Given the description of an element on the screen output the (x, y) to click on. 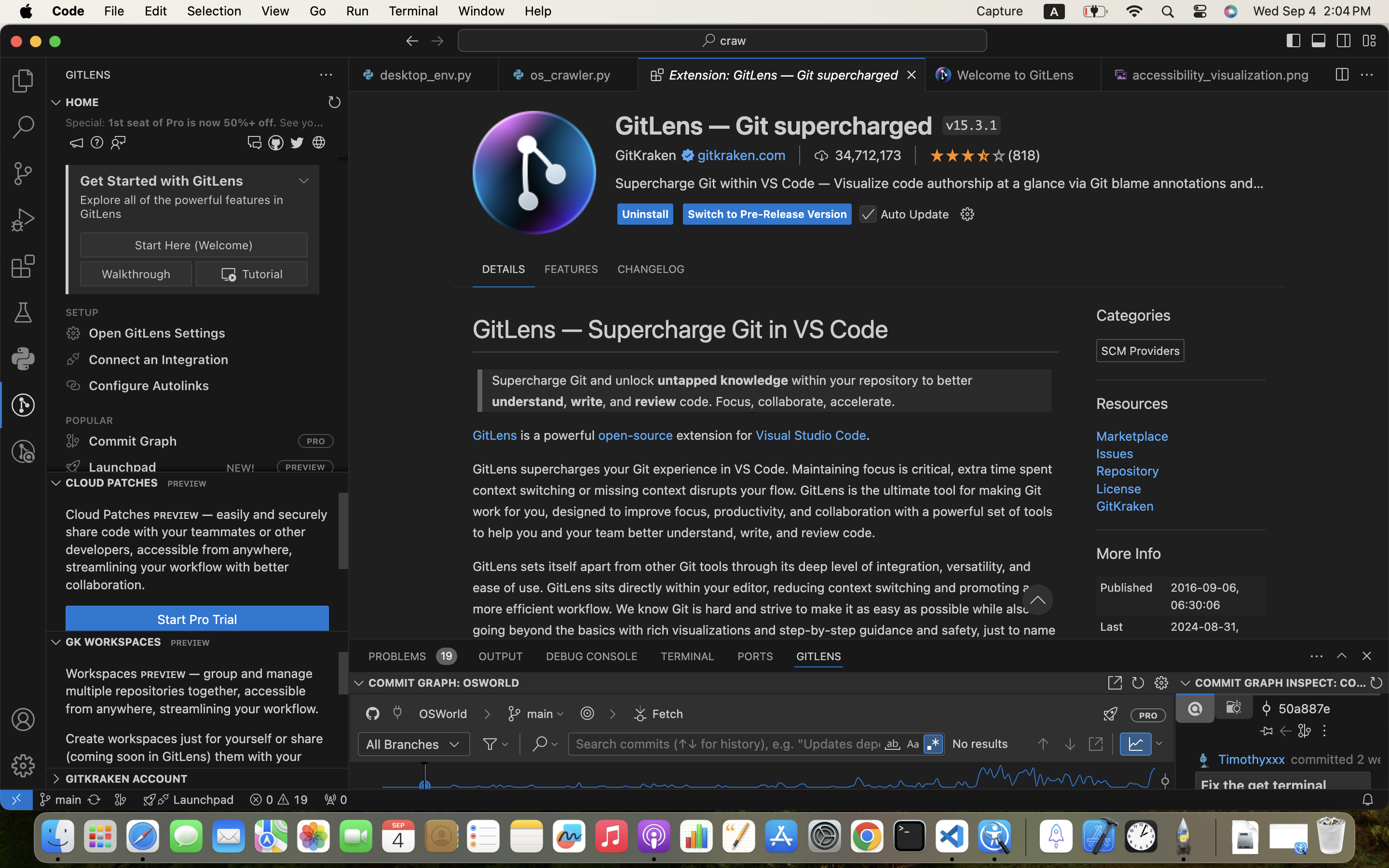
 Element type: AXStaticText (587, 713)
0 PORTS Element type: AXRadioButton (755, 655)
GitLens Settings Element type: AXStaticText (672, 459)
